Given the description of an element on the screen output the (x, y) to click on. 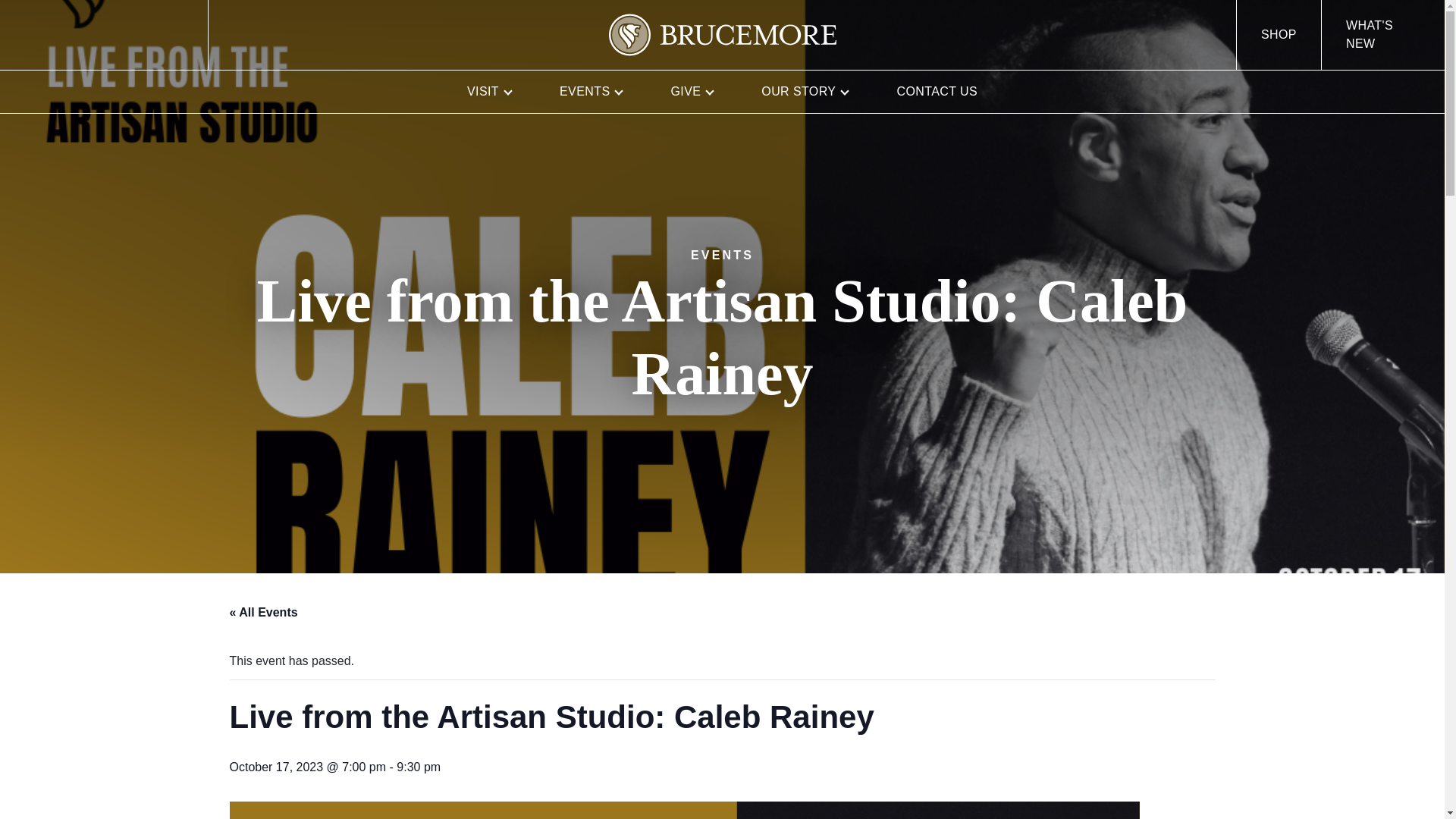
Youtube (158, 34)
Instagram (122, 34)
VISIT (488, 91)
Facebook (49, 34)
EVENTS (590, 91)
Twitter (85, 34)
